Given the description of an element on the screen output the (x, y) to click on. 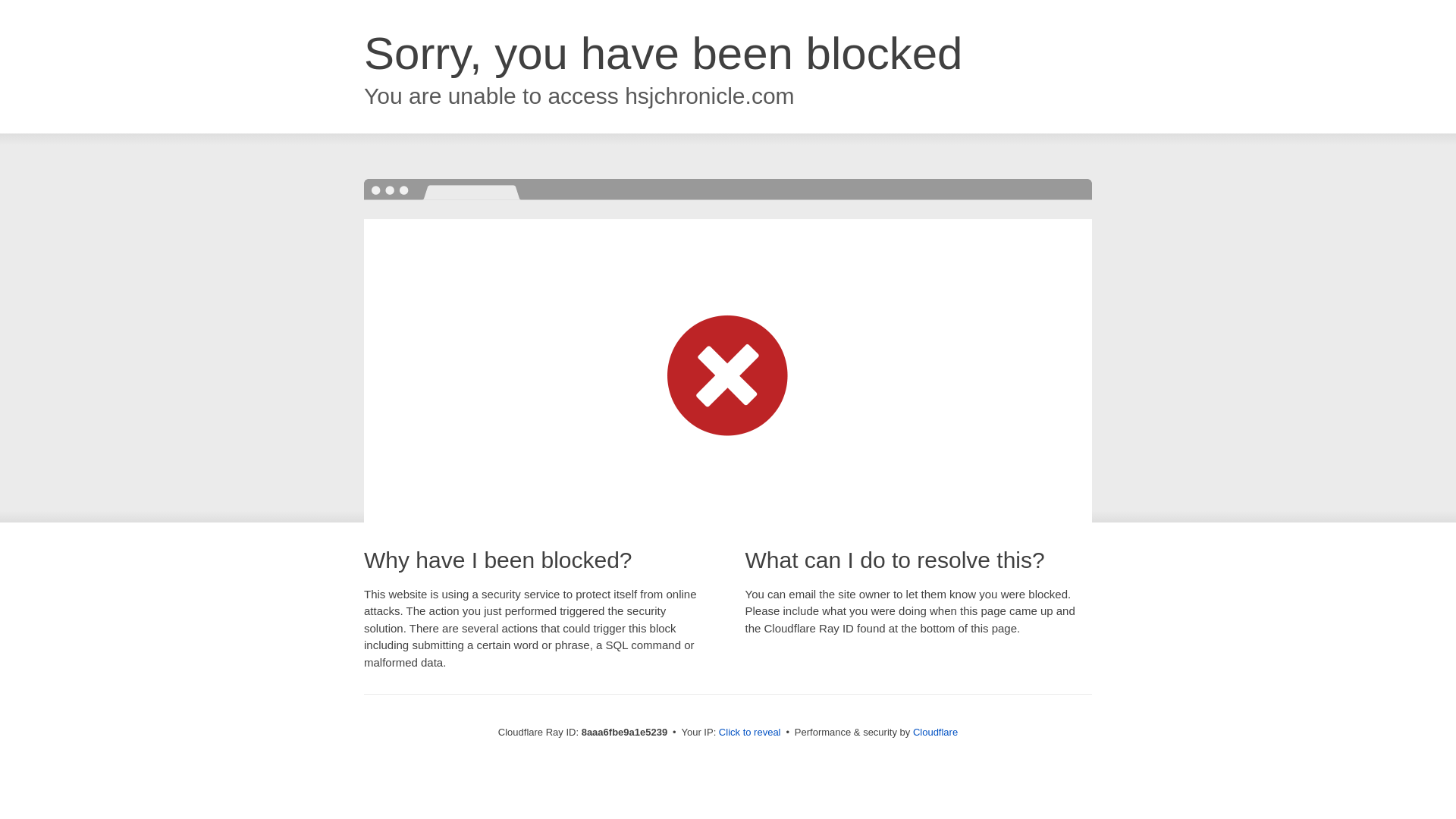
Cloudflare (935, 731)
Click to reveal (749, 732)
